Given the description of an element on the screen output the (x, y) to click on. 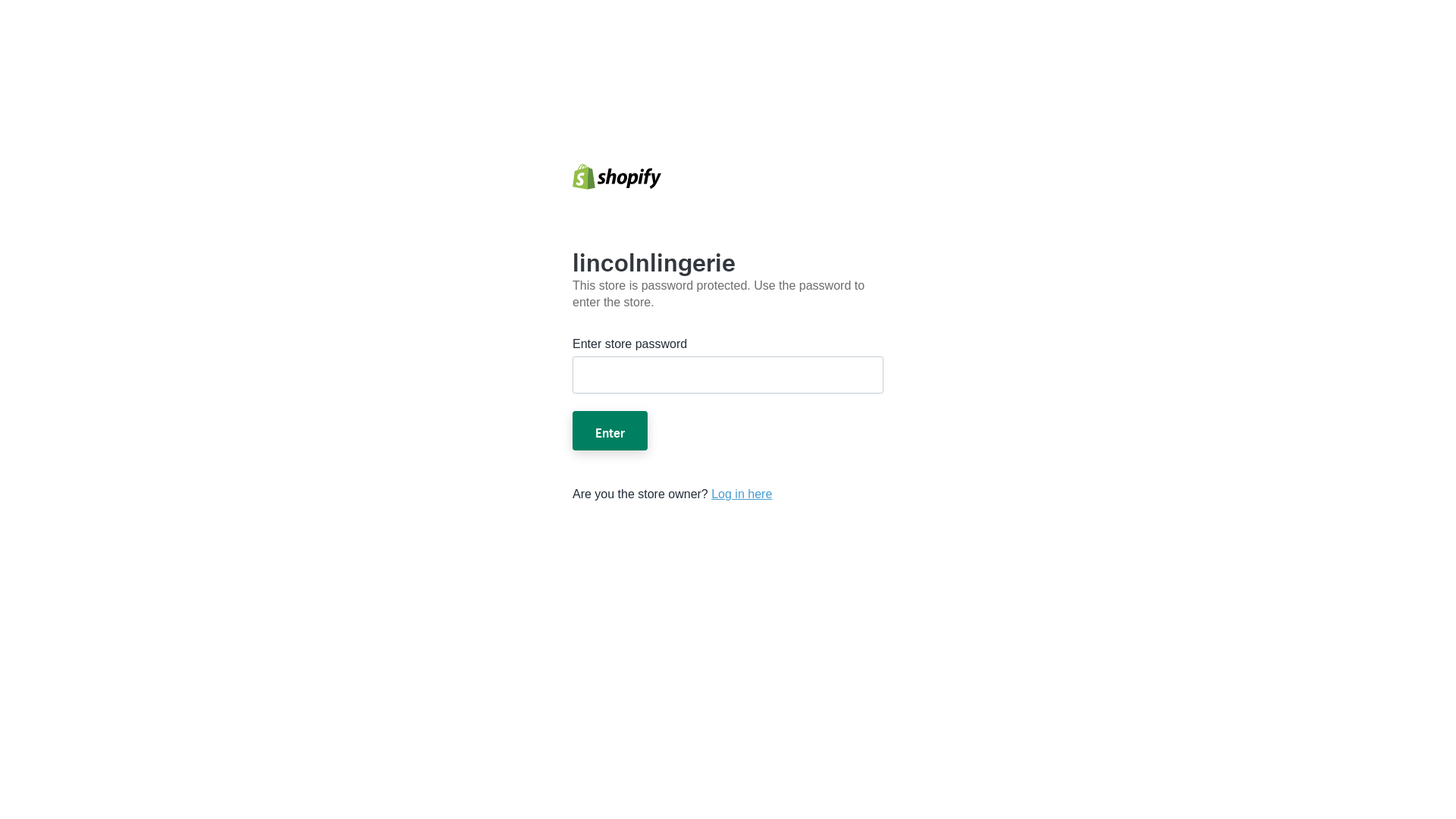
Enter Element type: text (609, 430)
Log in here Element type: text (741, 493)
